Given the description of an element on the screen output the (x, y) to click on. 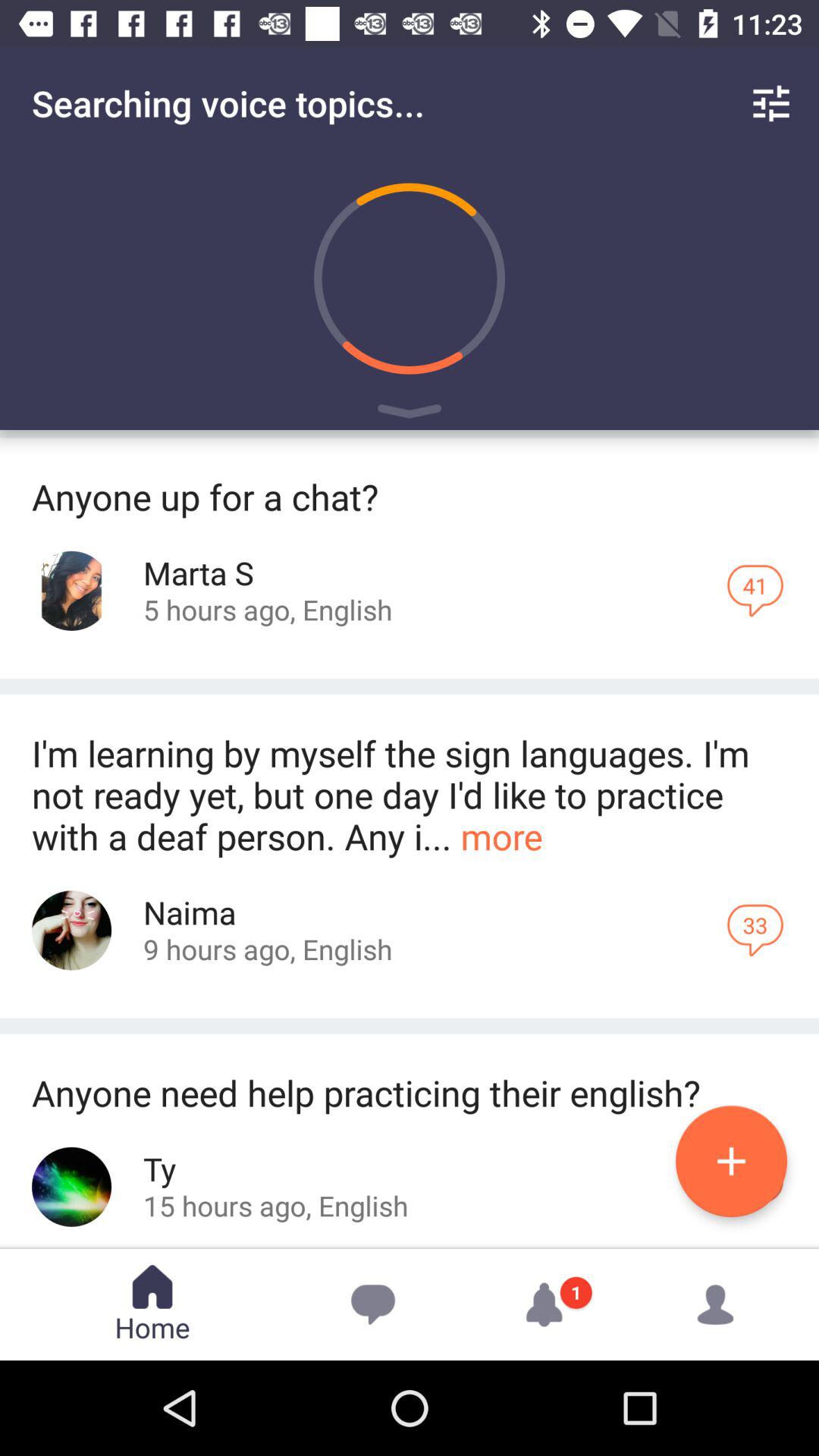
tp (71, 1186)
